Given the description of an element on the screen output the (x, y) to click on. 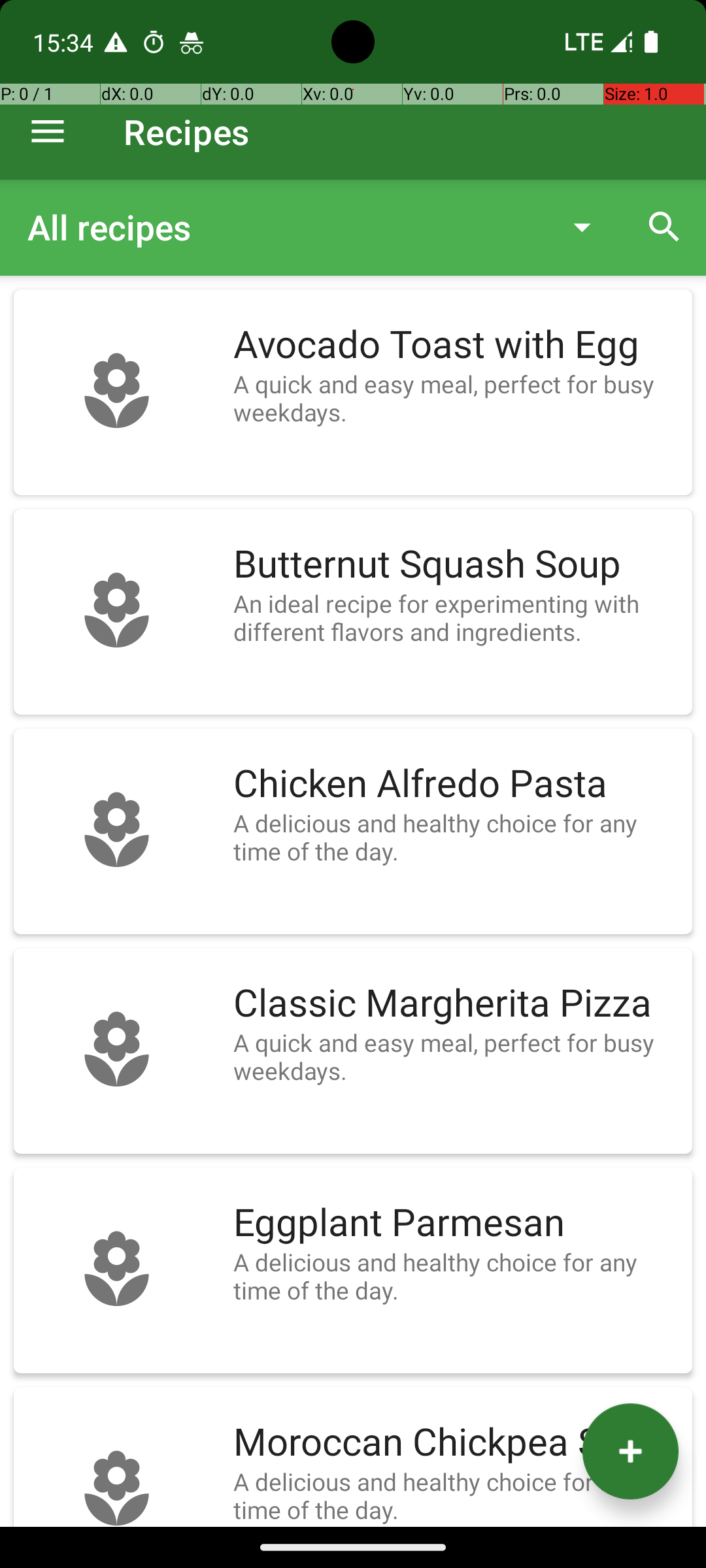
Classic Margherita Pizza Element type: android.widget.TextView (455, 1003)
Eggplant Parmesan Element type: android.widget.TextView (455, 1222)
Moroccan Chickpea Stew Element type: android.widget.TextView (455, 1442)
